Given the description of an element on the screen output the (x, y) to click on. 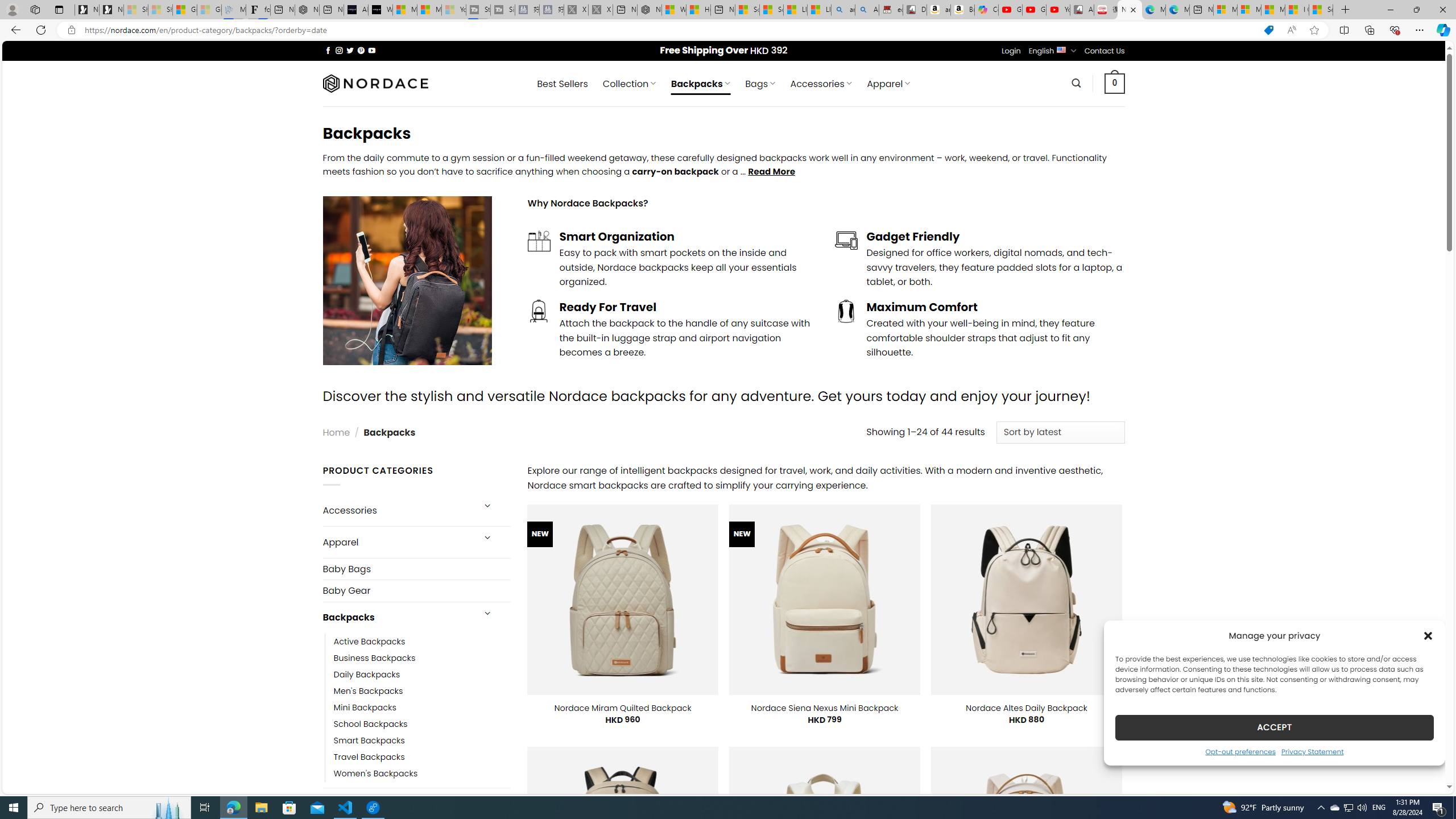
Follow on Twitter (349, 49)
Huge shark washes ashore at New York City beach | Watch (697, 9)
Baby Bags (416, 568)
Daily Backpacks (422, 674)
Home (335, 431)
Contact Us (1104, 50)
Nordace Miram Quilted Backpack (622, 708)
School Backpacks (370, 723)
Nordace - My Account (648, 9)
